Given the description of an element on the screen output the (x, y) to click on. 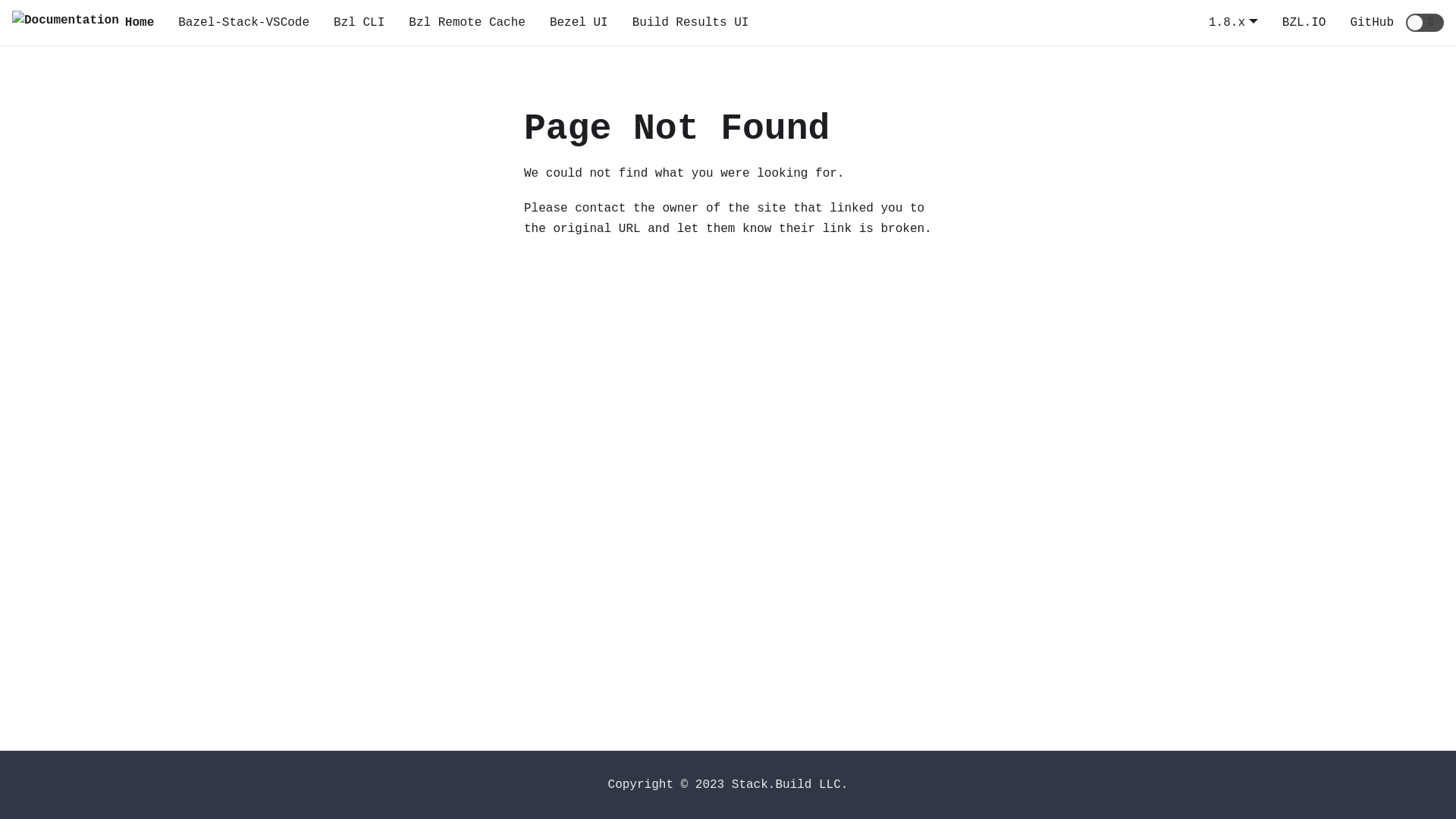
Home Element type: text (82, 22)
1.8.x Element type: text (1233, 22)
Bazel-Stack-VSCode Element type: text (243, 22)
Bzl Remote Cache Element type: text (466, 22)
GitHub Element type: text (1371, 22)
Build Results UI Element type: text (690, 22)
Bzl CLI Element type: text (358, 22)
Bezel UI Element type: text (578, 22)
BZL.IO Element type: text (1304, 22)
